Given the description of an element on the screen output the (x, y) to click on. 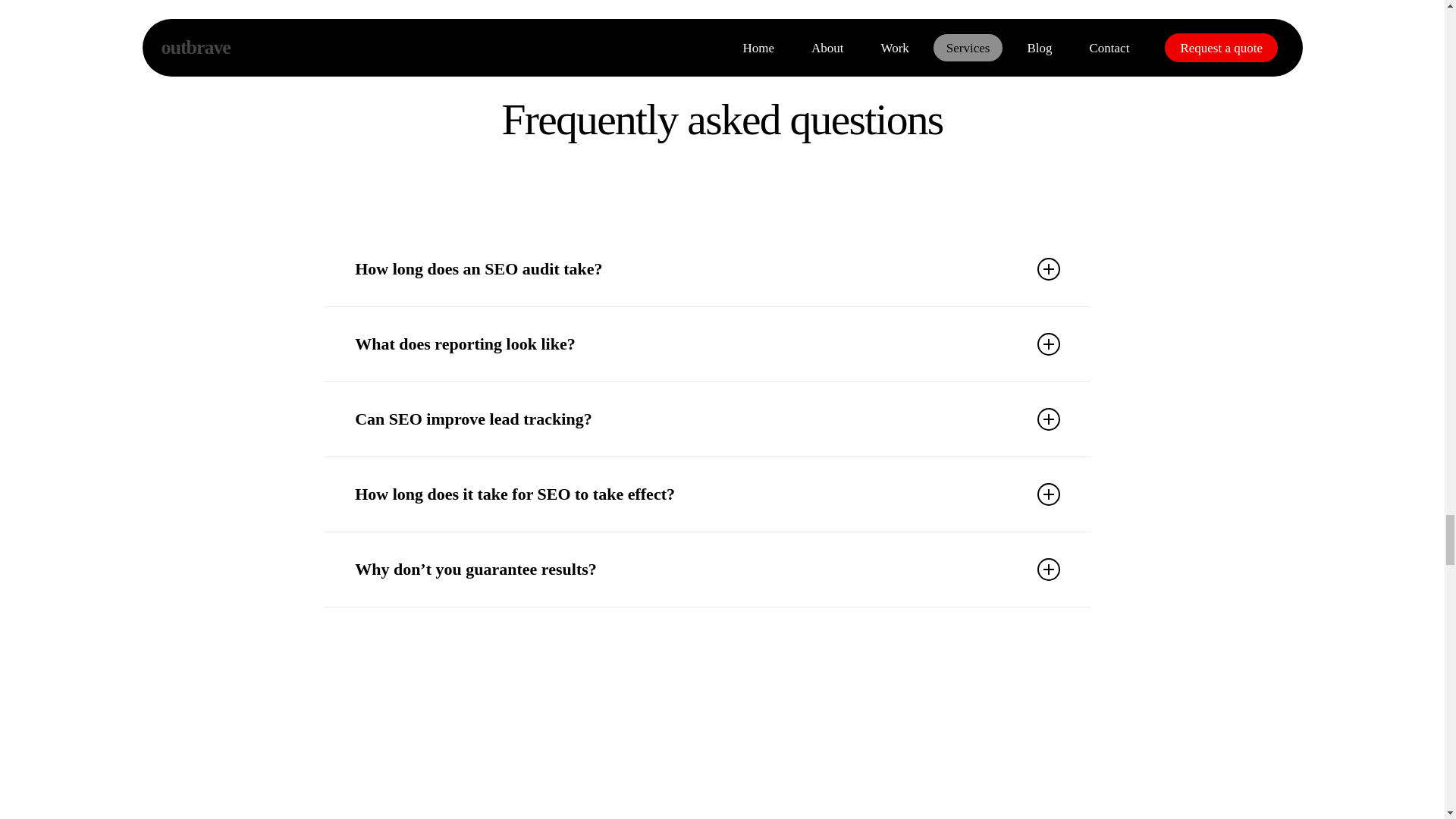
How long does an SEO audit take? (707, 268)
What does reporting look like? (707, 344)
How long does it take for SEO to take effect? (707, 494)
Can SEO improve lead tracking? (707, 419)
